Given the description of an element on the screen output the (x, y) to click on. 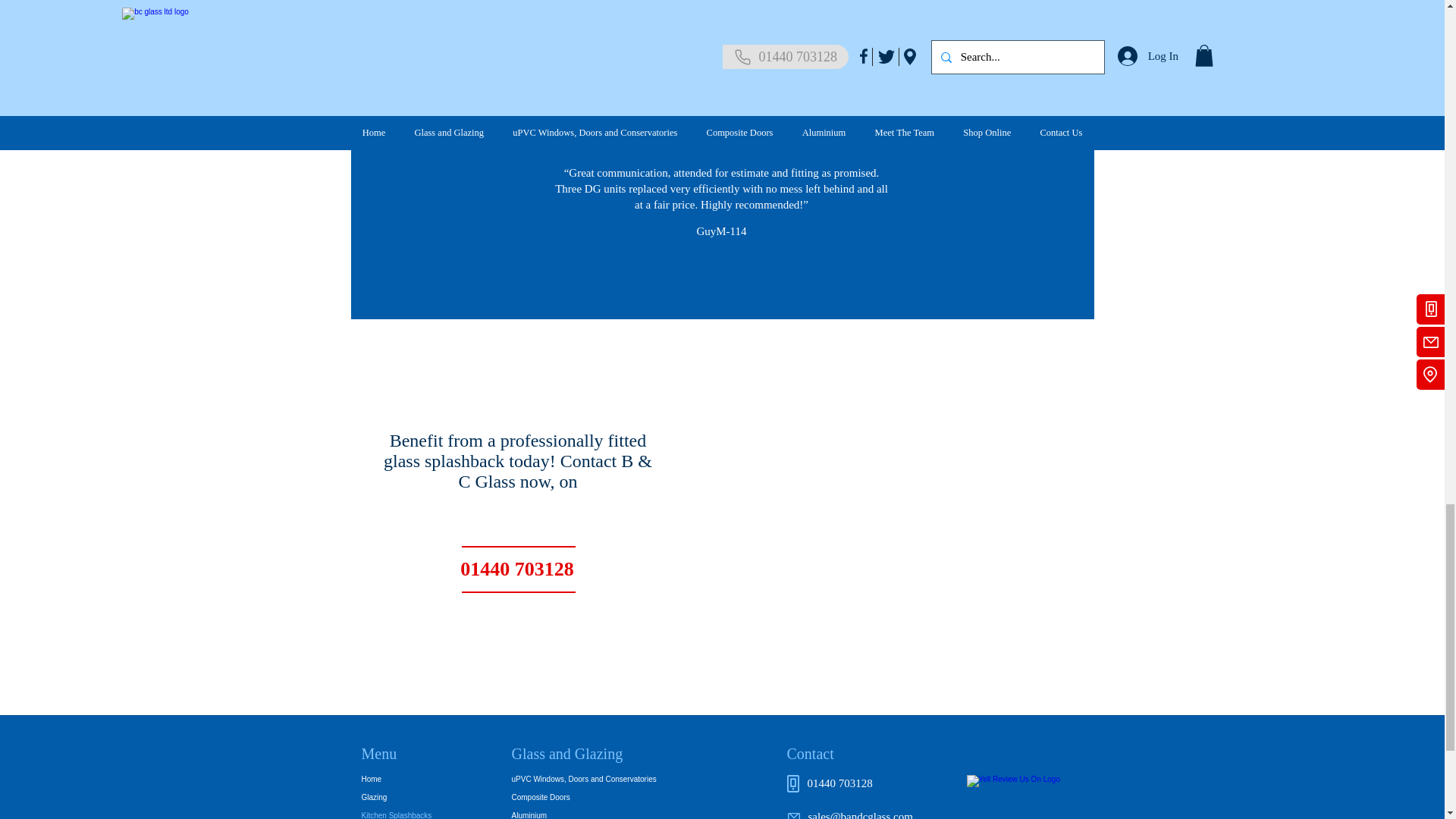
Kitchen Splashbacks (414, 812)
Home (414, 779)
Glazing (414, 797)
